Given the description of an element on the screen output the (x, y) to click on. 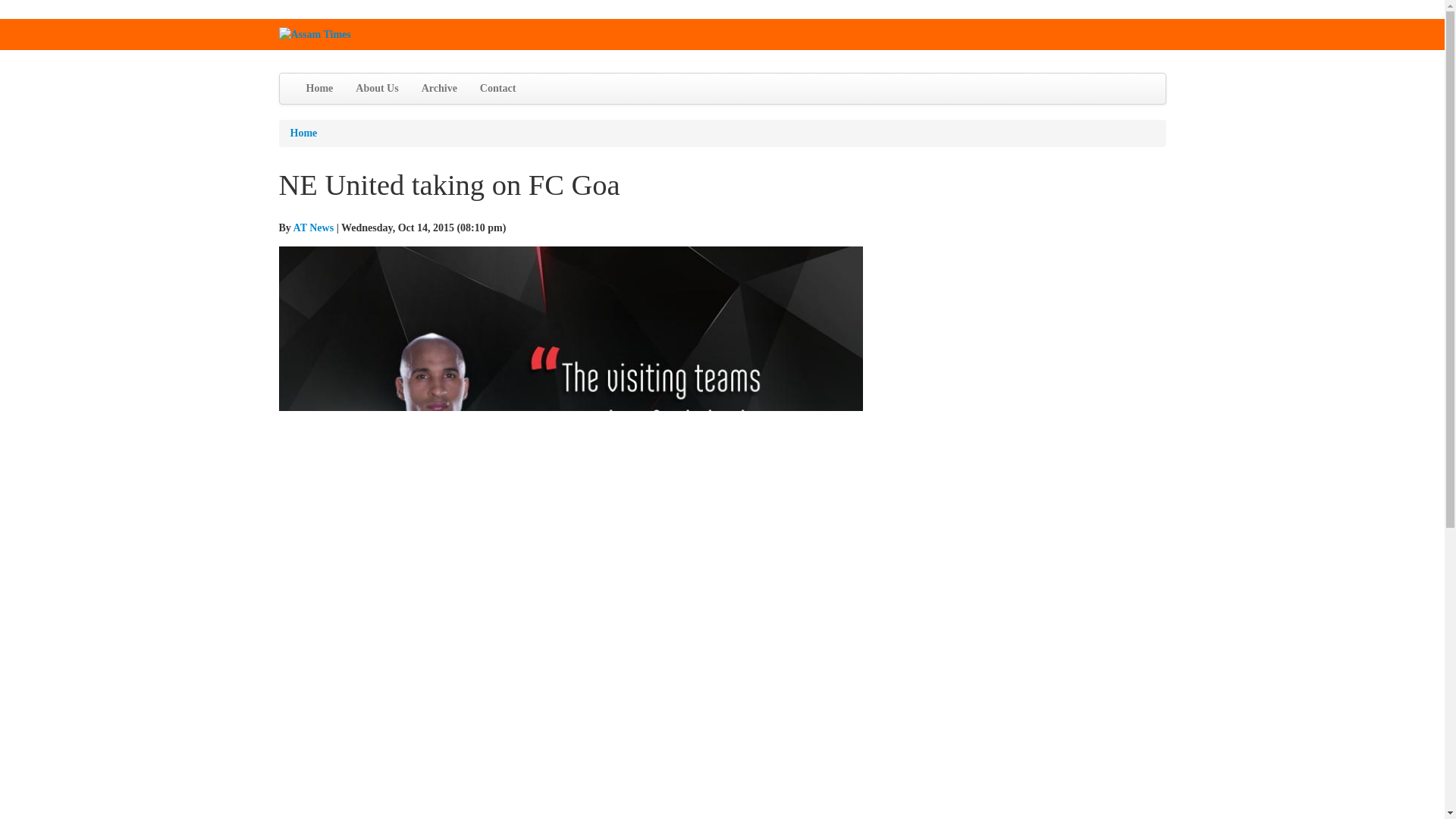
Contact (497, 88)
Home (303, 132)
Return to the Assam Times home page (314, 33)
View user profile. (314, 227)
Archive (439, 88)
AT News (314, 227)
Home (318, 88)
About Us (376, 88)
Skip to content (32, 18)
